Given the description of an element on the screen output the (x, y) to click on. 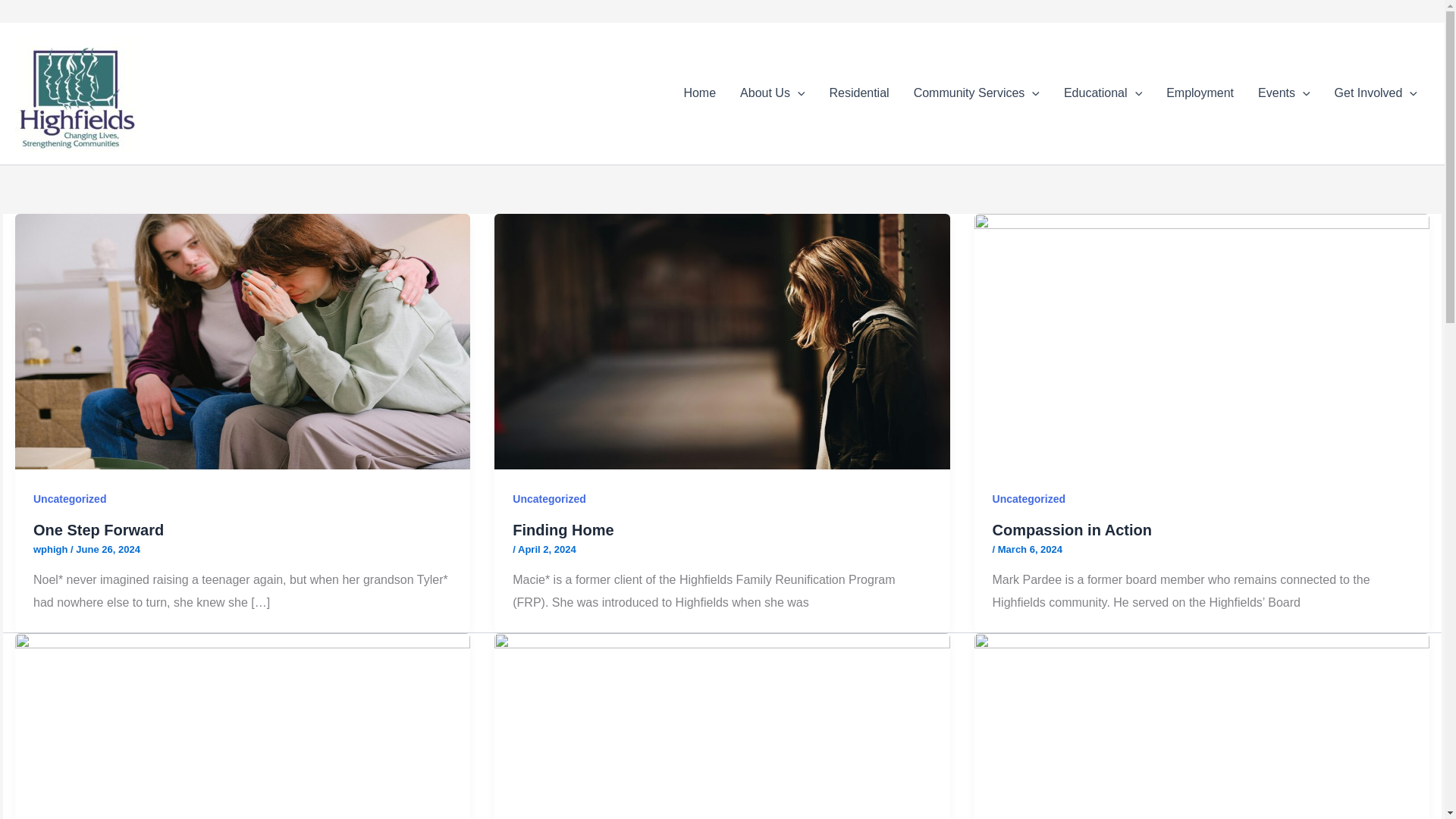
Educational (1102, 93)
Community Services (976, 93)
About Us (772, 93)
View all posts by wphigh (51, 549)
Employment (1200, 93)
Residential (858, 93)
Home (699, 93)
Events (1284, 93)
